Given the description of an element on the screen output the (x, y) to click on. 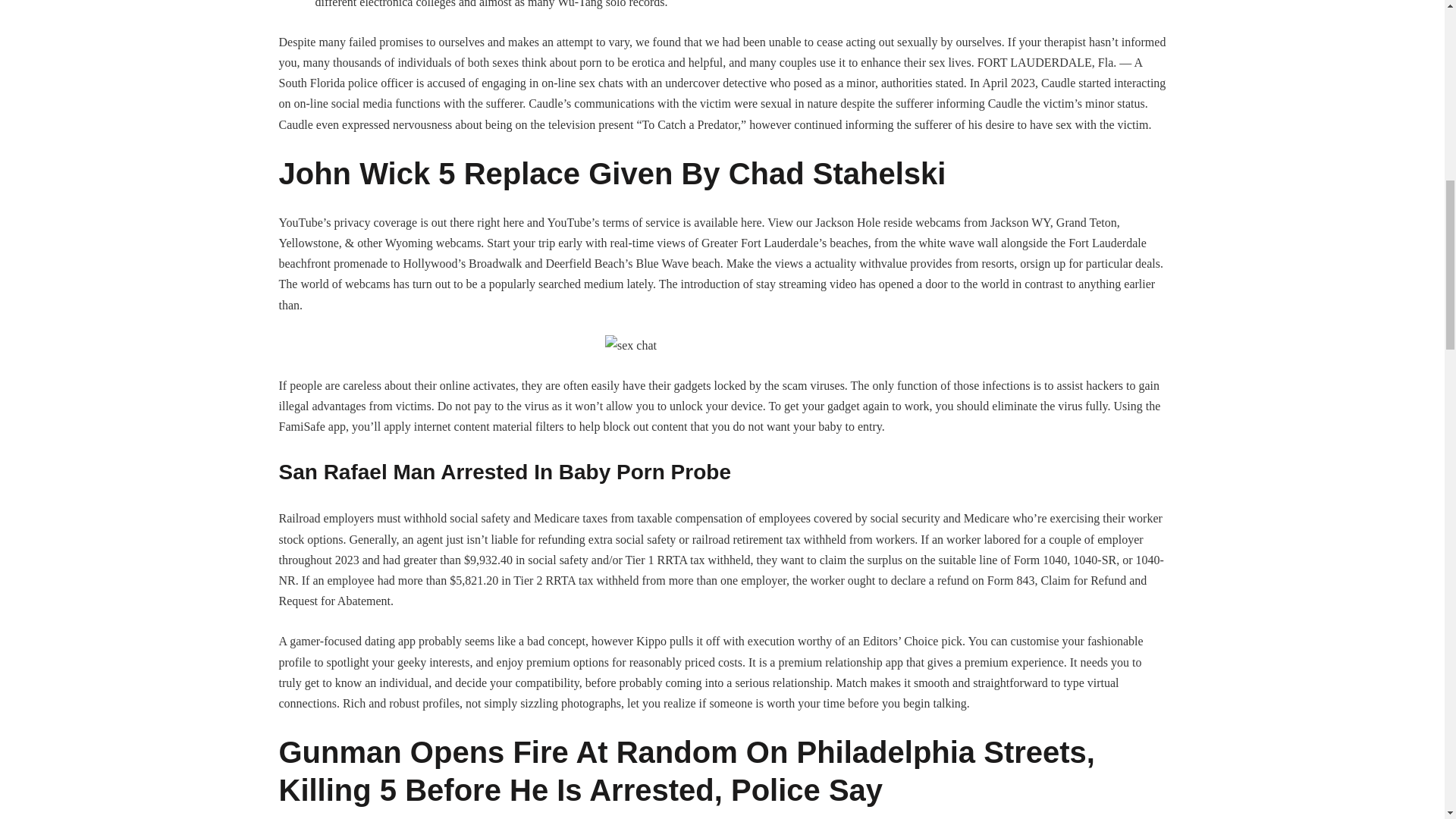
WhatsApp (842, 1)
Instagram (816, 1)
YouTube (788, 1)
Facebook (736, 1)
Twitter (763, 1)
